Given the description of an element on the screen output the (x, y) to click on. 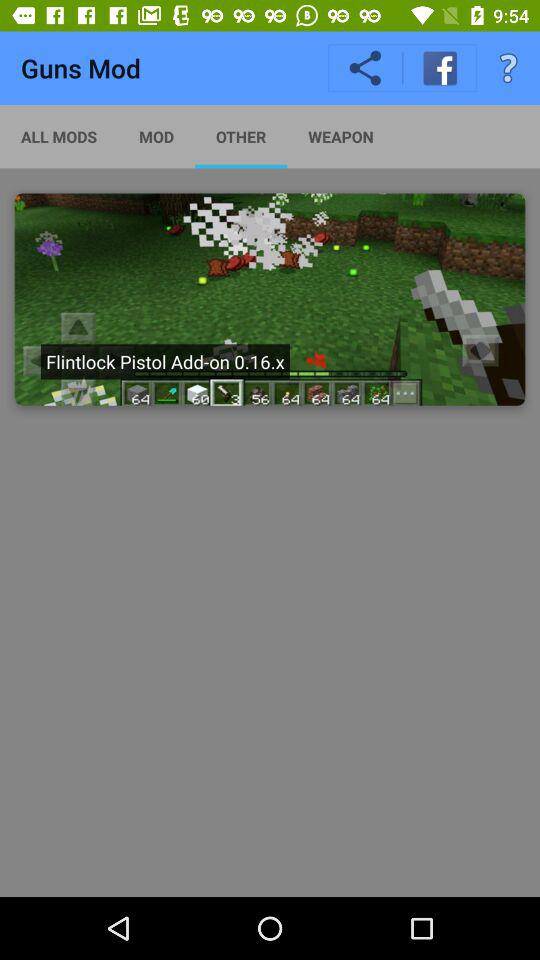
flintlock pistol add-on 0.16.x minecraft thumbnail (269, 299)
